Given the description of an element on the screen output the (x, y) to click on. 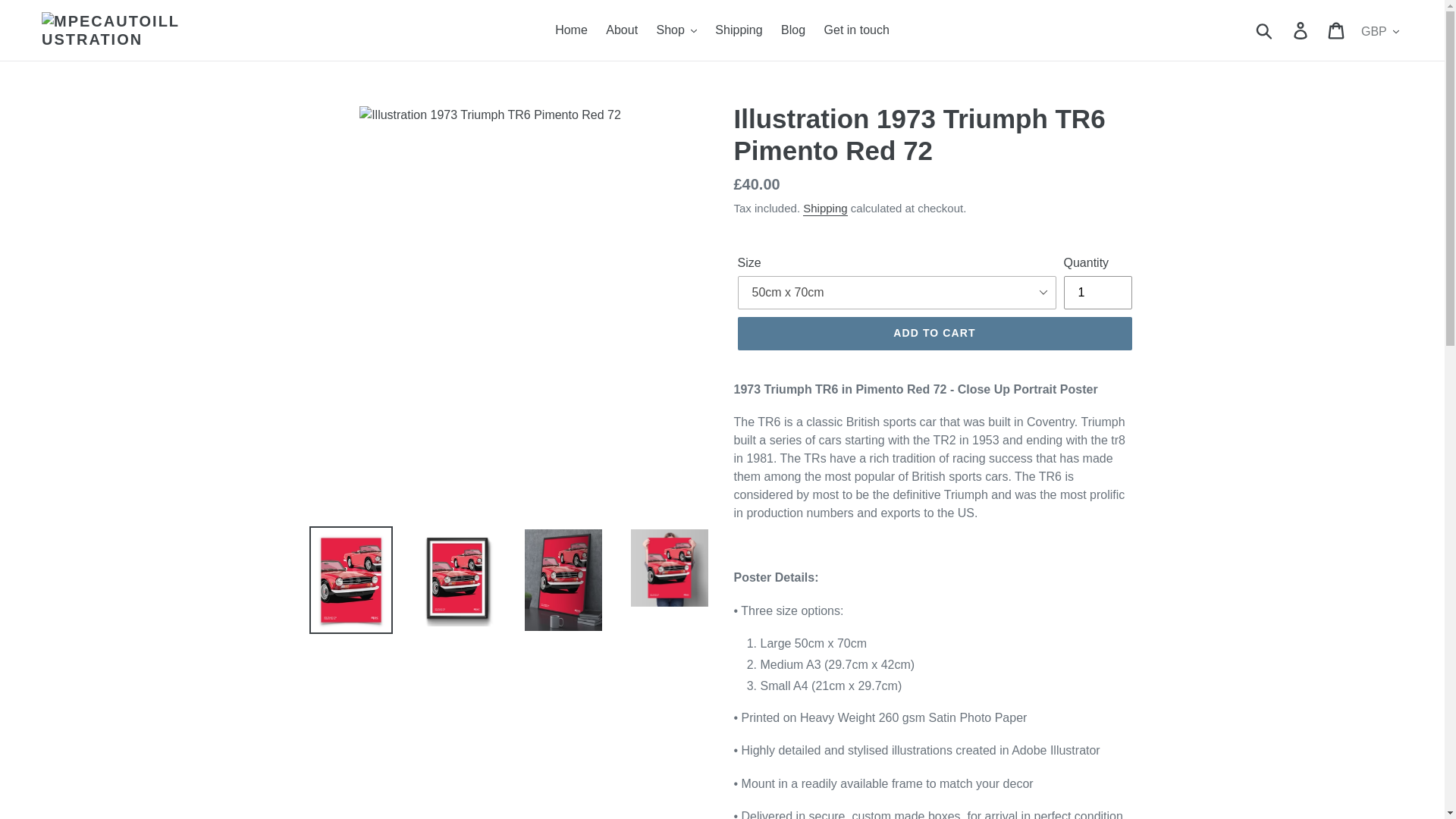
1 (1096, 292)
Home (571, 29)
About (621, 29)
